Given the description of an element on the screen output the (x, y) to click on. 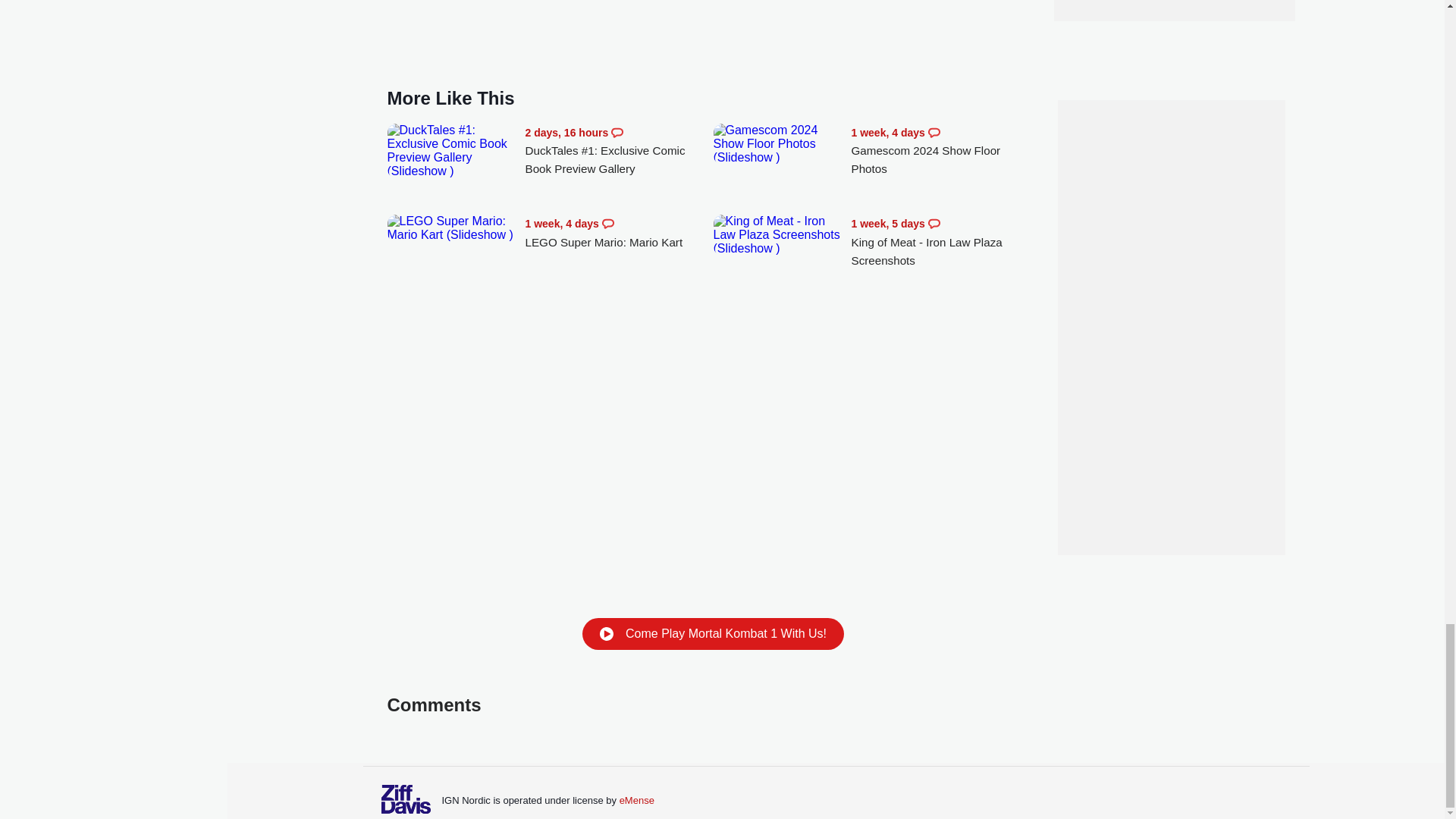
King of Meat - Iron Law Plaza Screenshots (778, 234)
LEGO Super Mario: Mario Kart (451, 227)
Comments (608, 223)
Comments (934, 132)
Comments (617, 132)
Gamescom 2024 Show Floor Photos (778, 143)
Comments (934, 223)
Gamescom 2024 Show Floor Photos (944, 151)
LEGO Super Mario: Mario Kart (618, 232)
King of Meat - Iron Law Plaza Screenshots (944, 242)
